Given the description of an element on the screen output the (x, y) to click on. 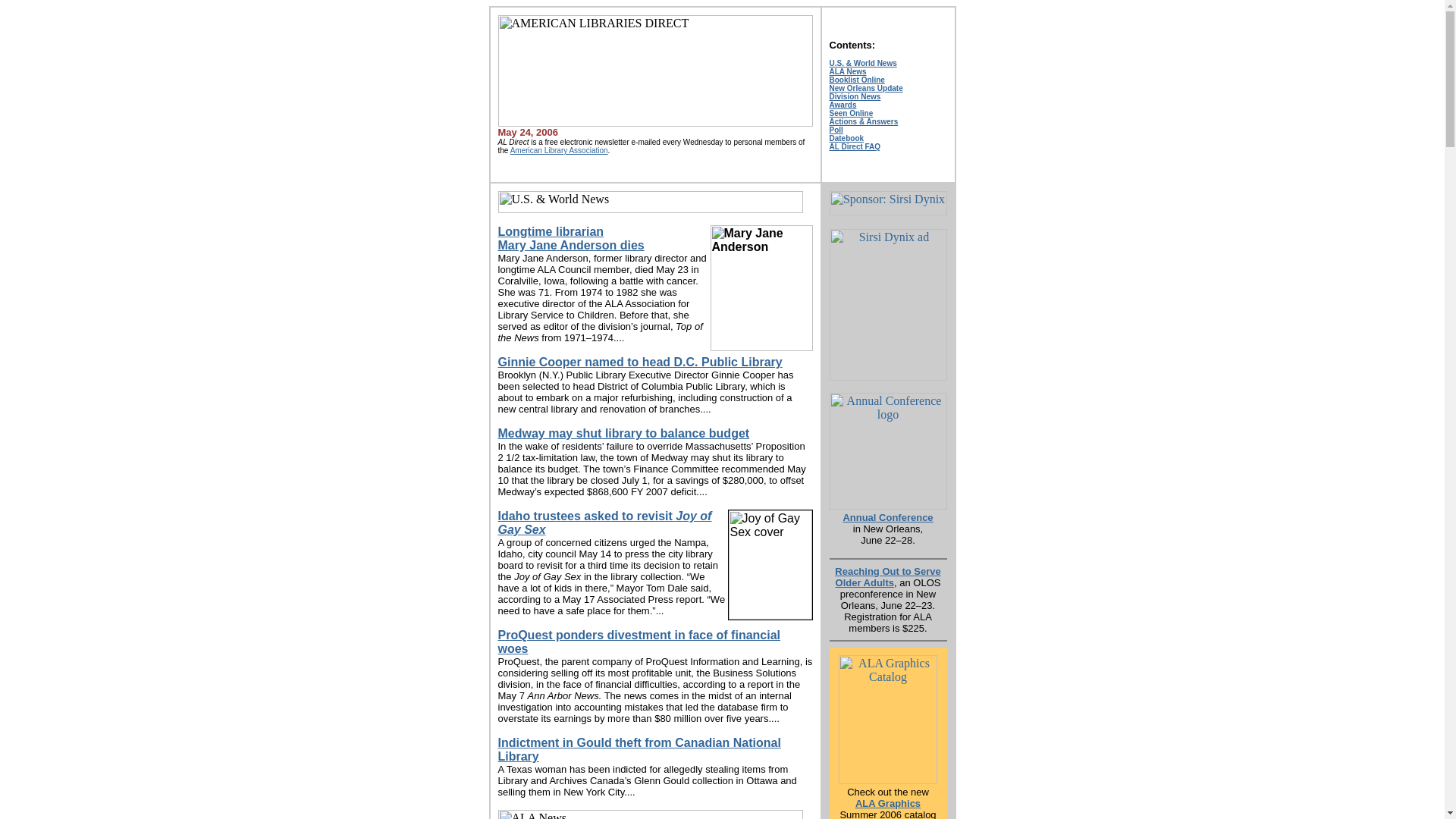
AL Direct FAQ (570, 238)
American Library Association (854, 146)
Division News (559, 150)
ALA News (854, 96)
Datebook (847, 70)
ProQuest ponders divestment in face of financial woes (846, 137)
Ginnie Cooper named to head D.C. Public Library (638, 641)
Medway may shut library to balance budget (639, 361)
Seen Online (623, 432)
